Given the description of an element on the screen output the (x, y) to click on. 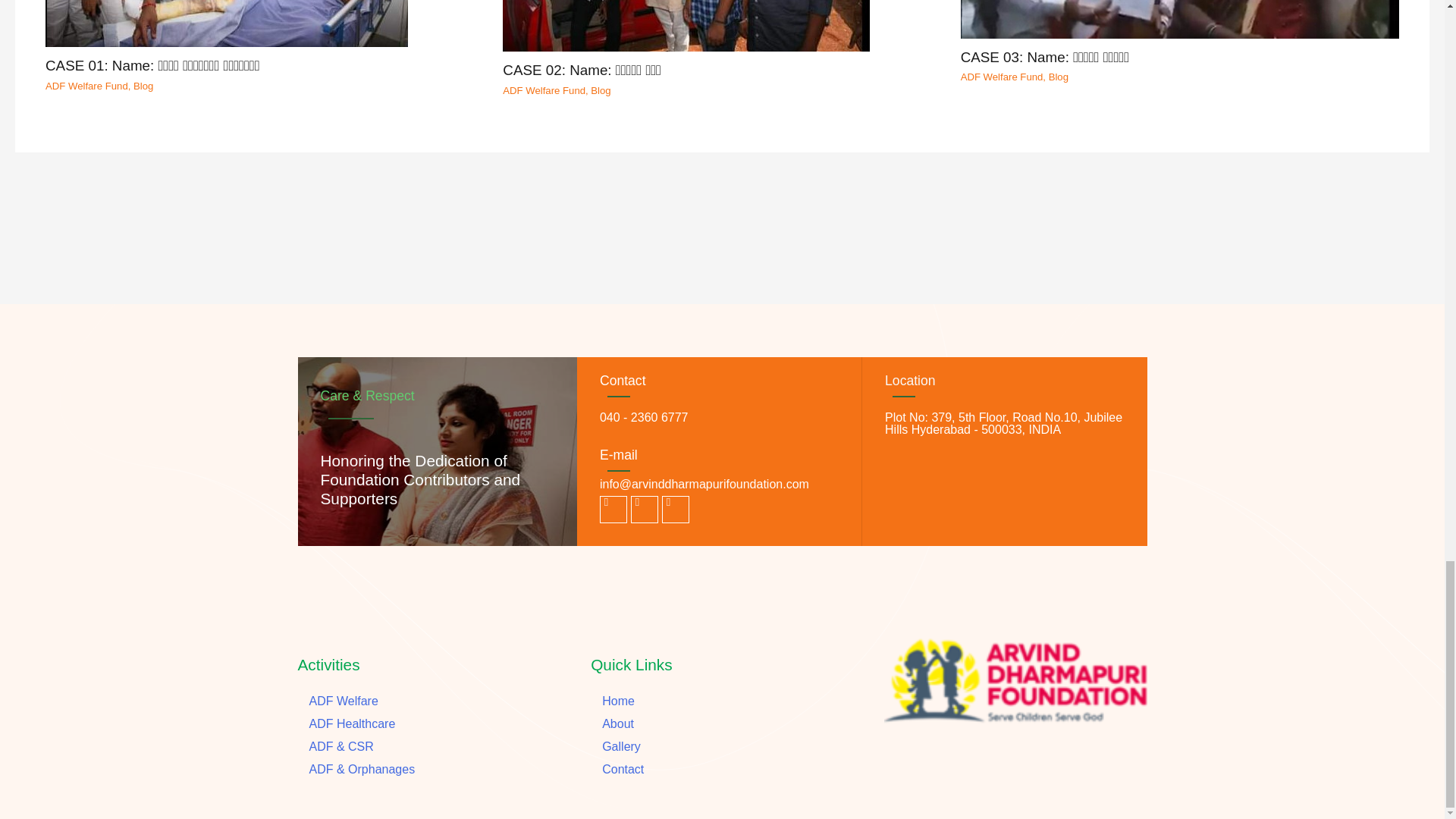
Blog (600, 90)
ADF Welfare Fund (543, 90)
Blog (142, 85)
ADF Welfare Fund (86, 85)
